Given the description of an element on the screen output the (x, y) to click on. 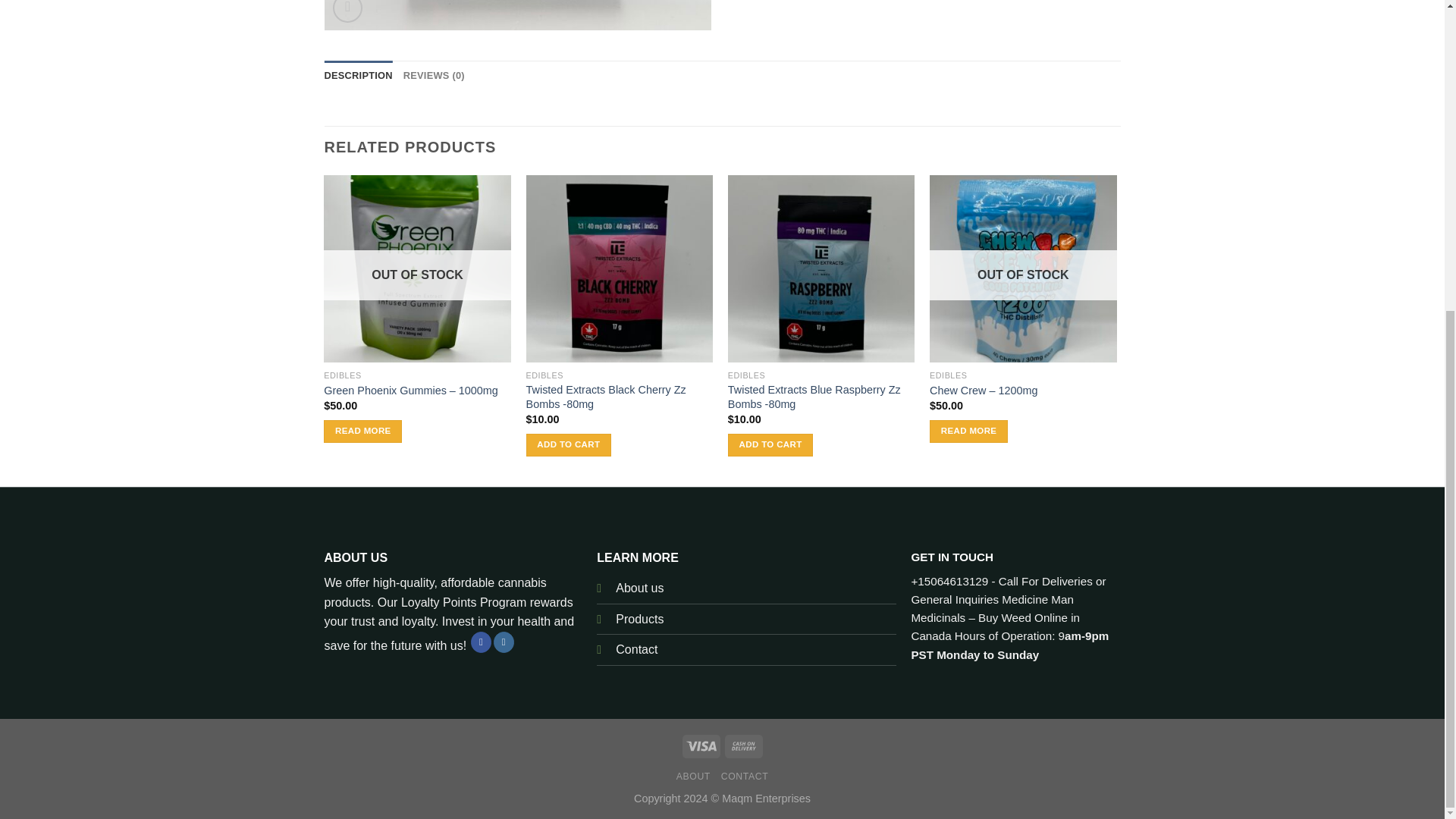
Follow on Instagram (503, 641)
Twisted Singles 1200mg Nectarine Dream Indica (517, 15)
Zoom (347, 11)
Follow on Facebook (481, 641)
